Given the description of an element on the screen output the (x, y) to click on. 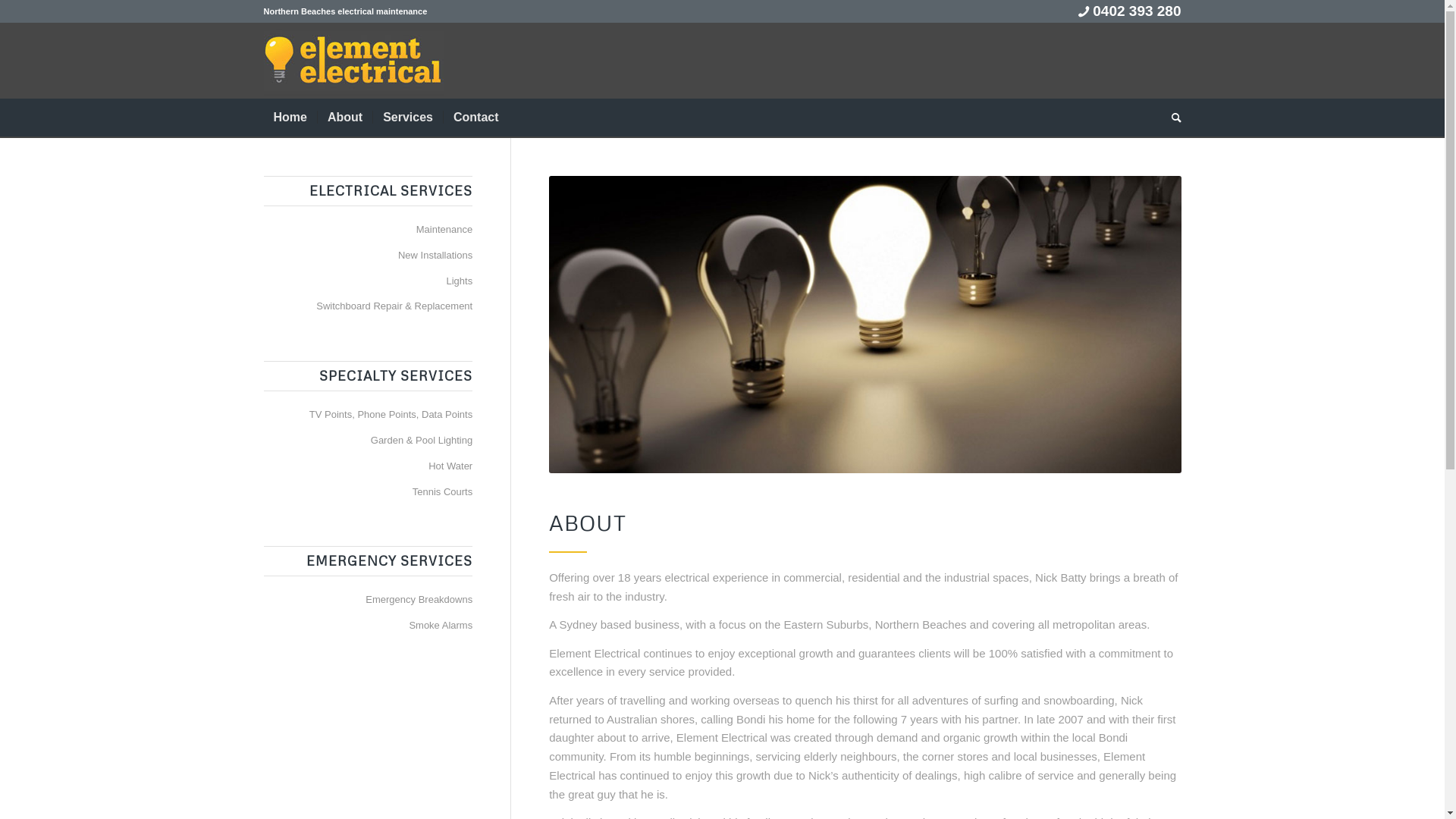
Garden & Pool Lighting Element type: text (368, 441)
About Element type: text (344, 117)
element-electrical-logo Element type: hover (353, 60)
New Installations Element type: text (368, 256)
Services Element type: text (407, 117)
Contact Element type: text (475, 117)
Northern Beaches electrical maintenance Element type: text (345, 11)
Tennis Courts Element type: text (368, 492)
Home Element type: text (289, 117)
Smoke Alarms Element type: text (368, 626)
TV Points, Phone Points, Data Points Element type: text (368, 415)
Hot Water Element type: text (368, 467)
Maintenance Element type: text (368, 230)
Lights Element type: text (368, 281)
Emergency Breakdowns Element type: text (368, 600)
about-element-electrical Element type: hover (864, 324)
Switchboard Repair & Replacement Element type: text (368, 307)
